Given the description of an element on the screen output the (x, y) to click on. 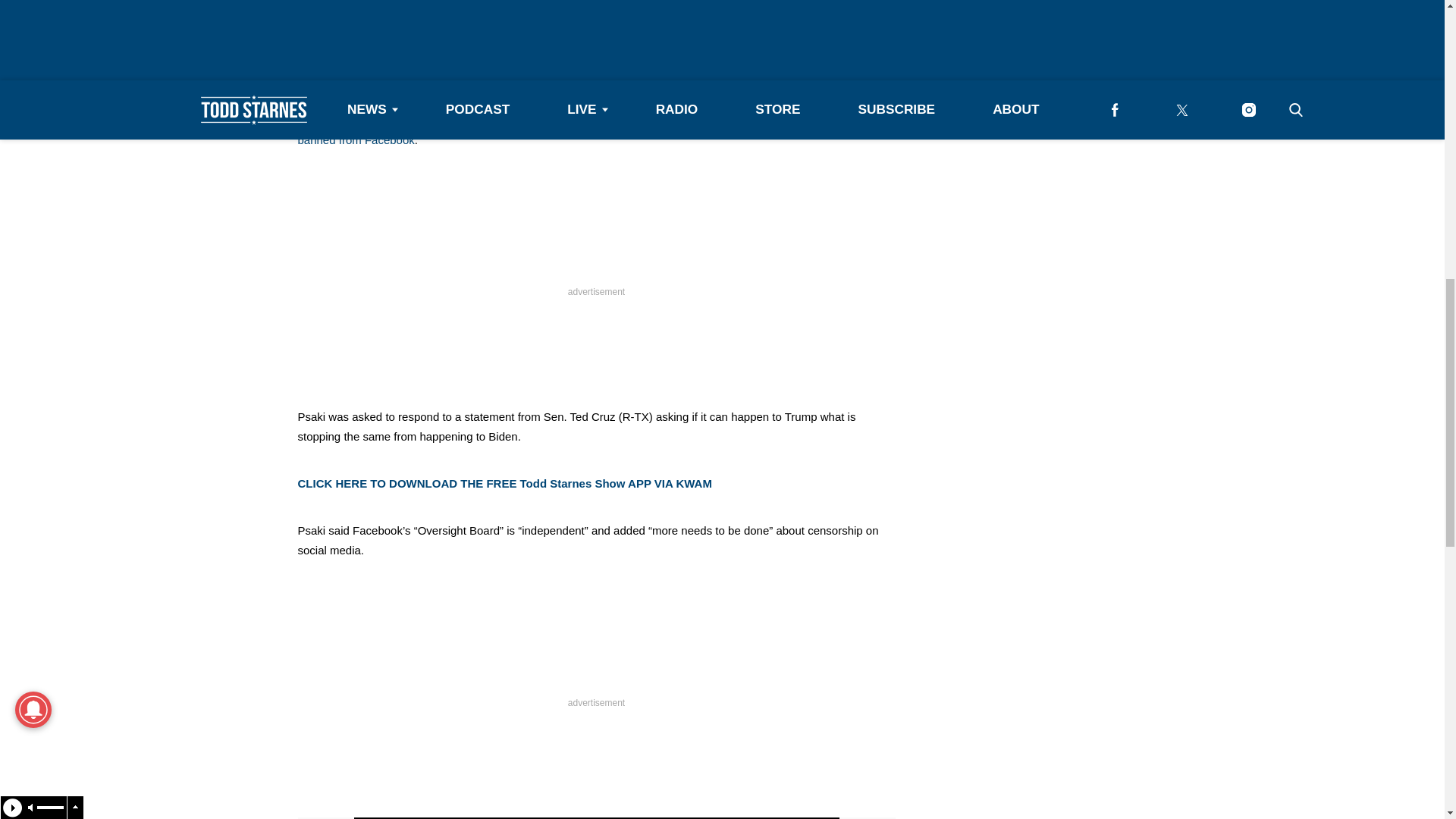
banned from Facebook (355, 139)
Click here to subscribe. (775, 72)
